Given the description of an element on the screen output the (x, y) to click on. 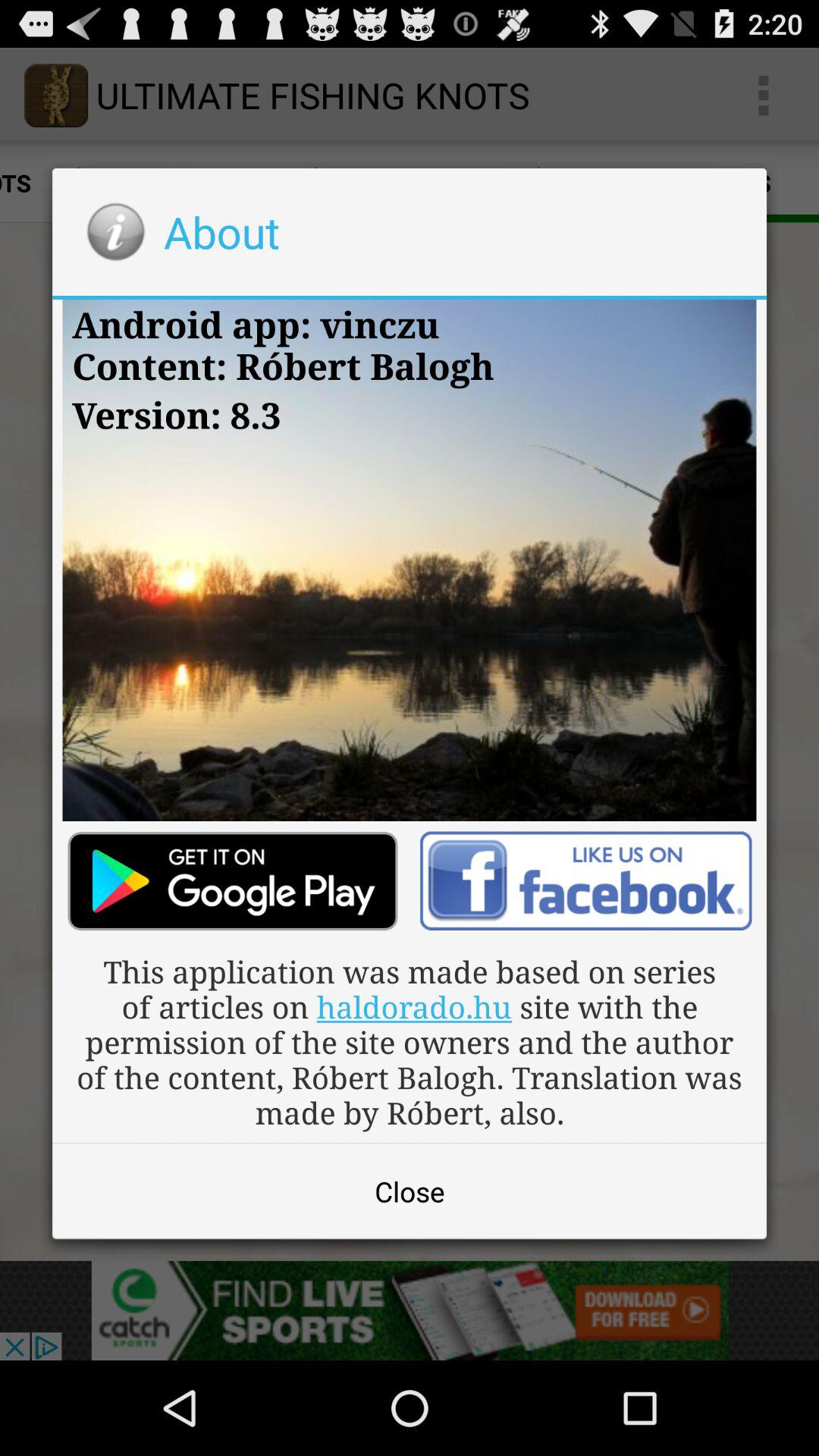
flip until close icon (409, 1191)
